Given the description of an element on the screen output the (x, y) to click on. 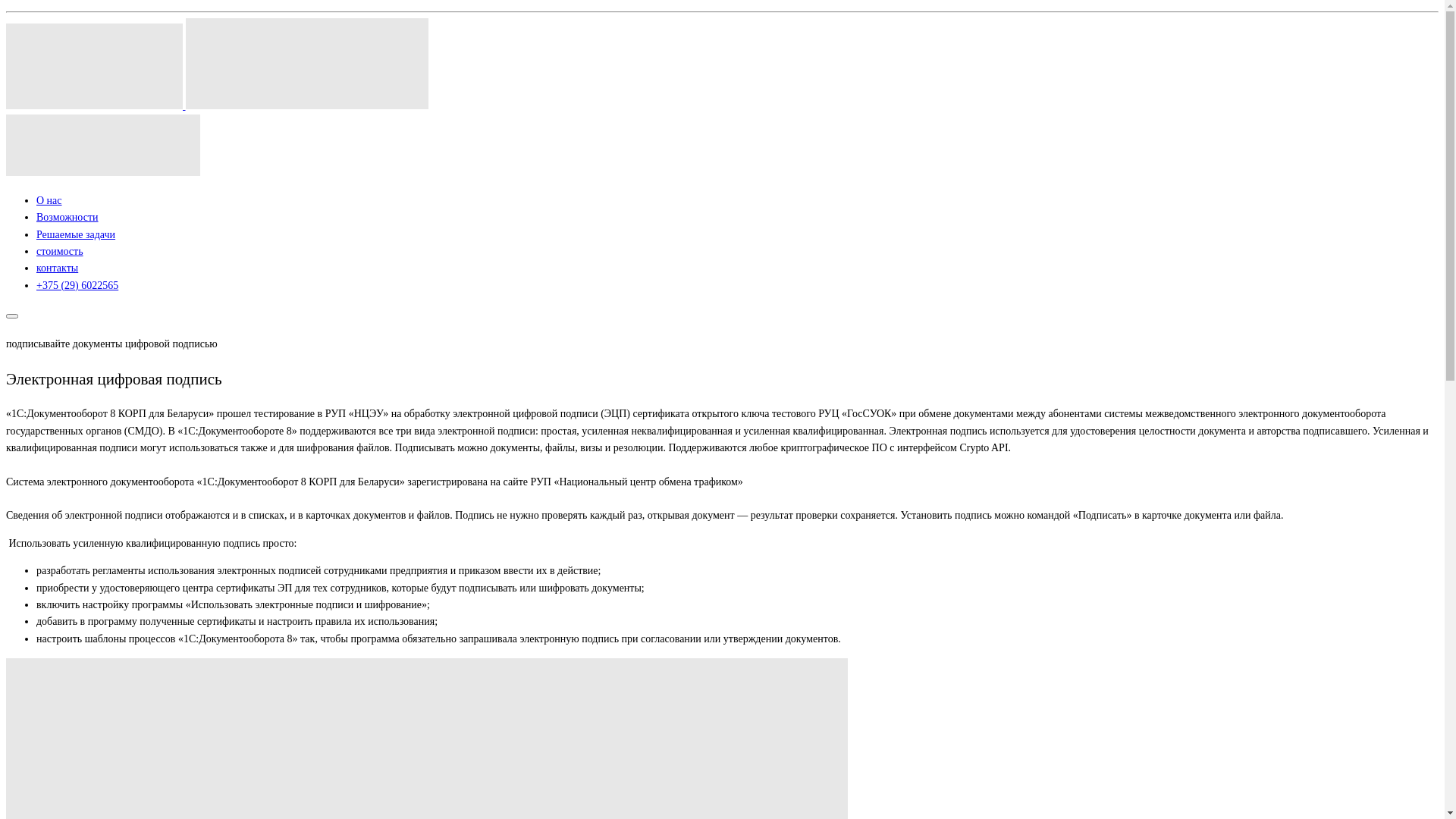
+375 (29) 6022565 Element type: text (77, 285)
